Given the description of an element on the screen output the (x, y) to click on. 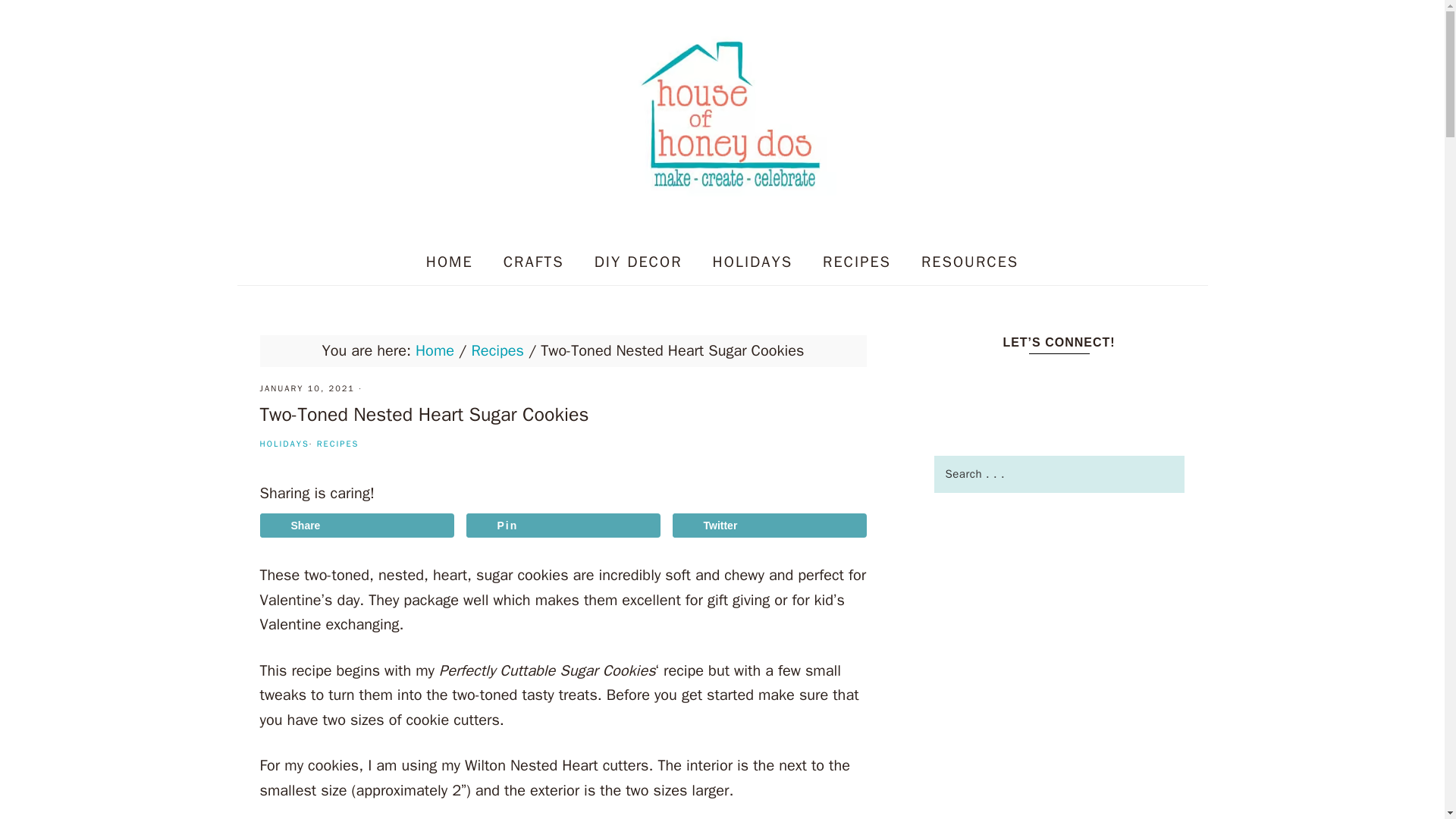
Share on Twitter (768, 525)
HOME (448, 262)
Twitter (768, 525)
RECIPES (338, 443)
CRAFTS (533, 262)
Pin (562, 525)
HOLIDAYS (752, 262)
Share on Facebook (355, 525)
